Given the description of an element on the screen output the (x, y) to click on. 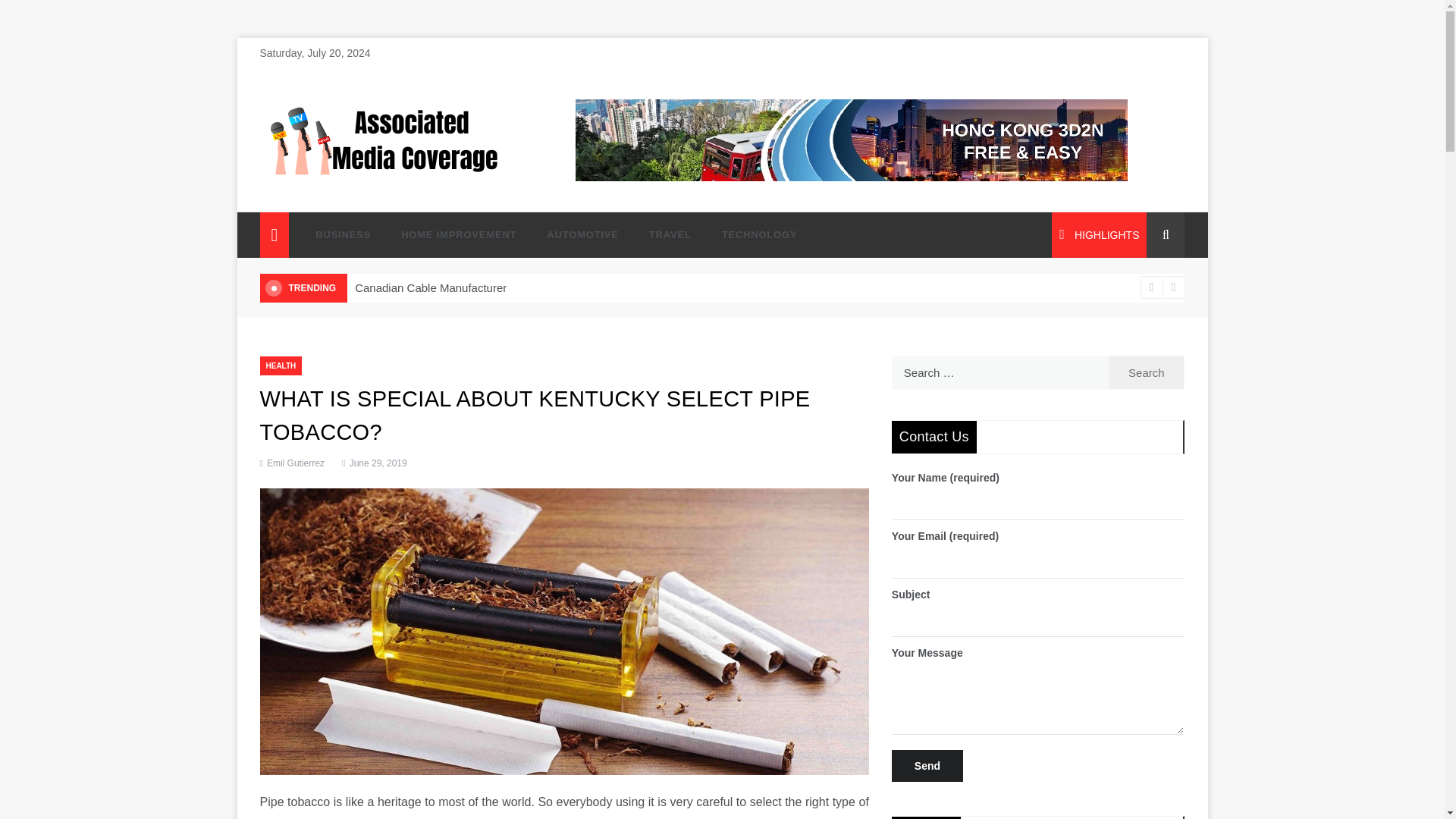
Search (1146, 372)
TECHNOLOGY (751, 234)
TRAVEL (669, 234)
AUTOMOTIVE (582, 234)
HIGHLIGHTS (1099, 234)
HEALTH (280, 365)
Associated Media Coverage (399, 191)
Search (1146, 372)
How to Get the Best Lawyer for DUI (1278, 287)
BUSINESS (342, 234)
Send (926, 766)
Canadian Cable Manufacturer (430, 287)
Emil Gutierrez (295, 462)
HOME IMPROVEMENT (458, 234)
